Given the description of an element on the screen output the (x, y) to click on. 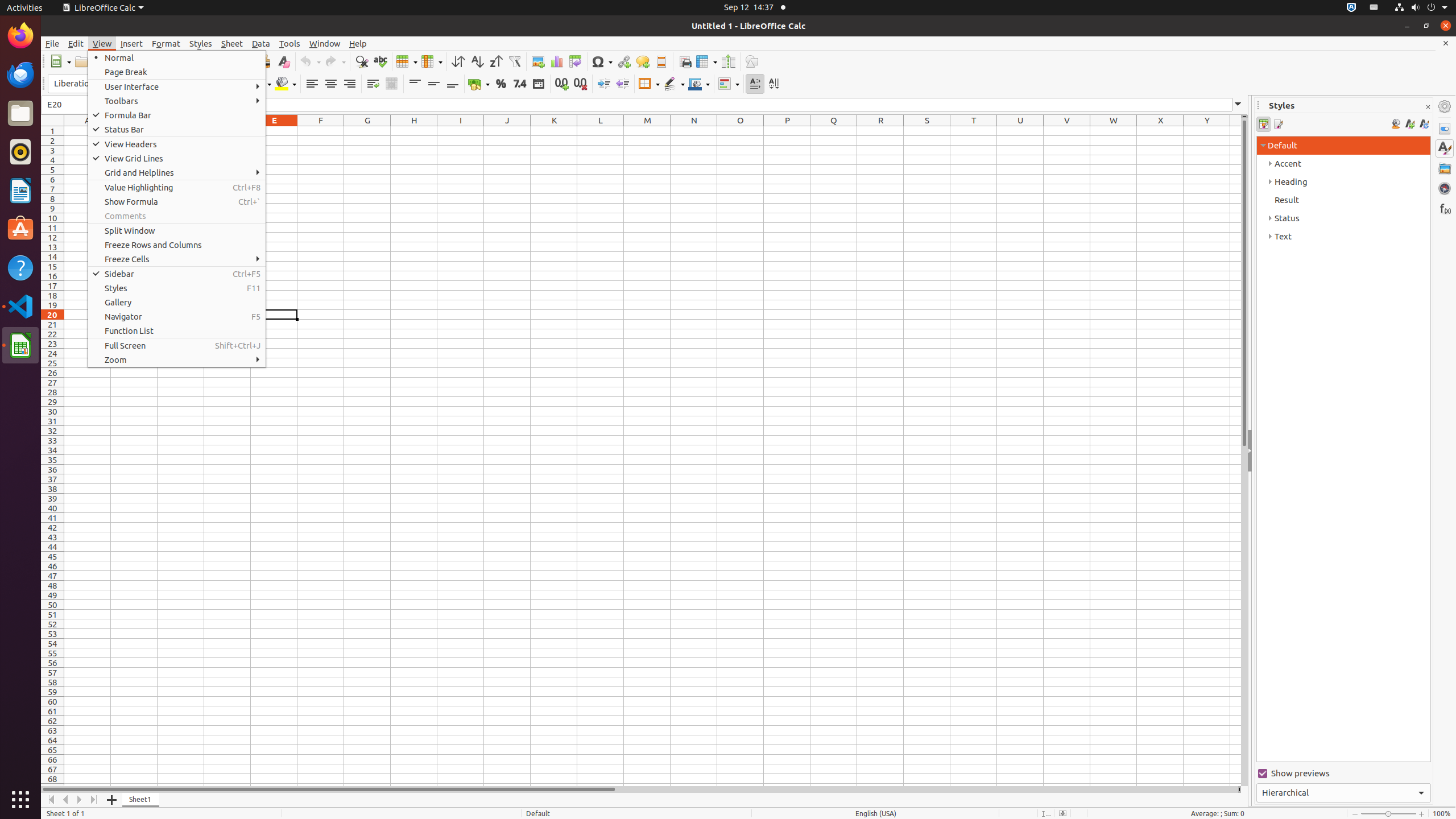
Split Window Element type: check-menu-item (176, 230)
Decrease Element type: push-button (622, 83)
LibreOffice Writer Element type: push-button (20, 190)
Fill Format Mode Element type: push-button (1395, 123)
Wrap Text Element type: push-button (372, 83)
